Given the description of an element on the screen output the (x, y) to click on. 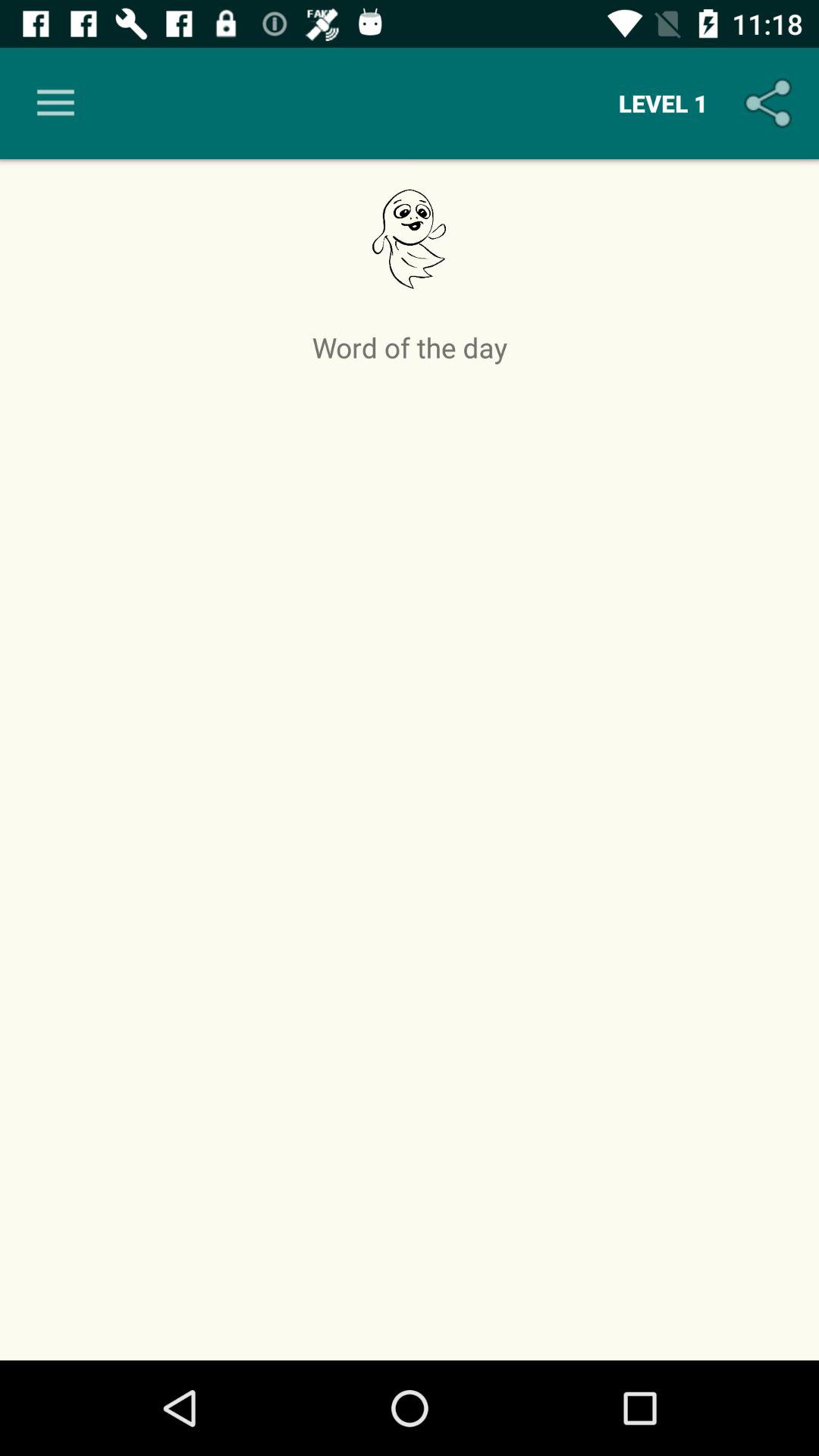
choose the item above word of the (771, 103)
